Given the description of an element on the screen output the (x, y) to click on. 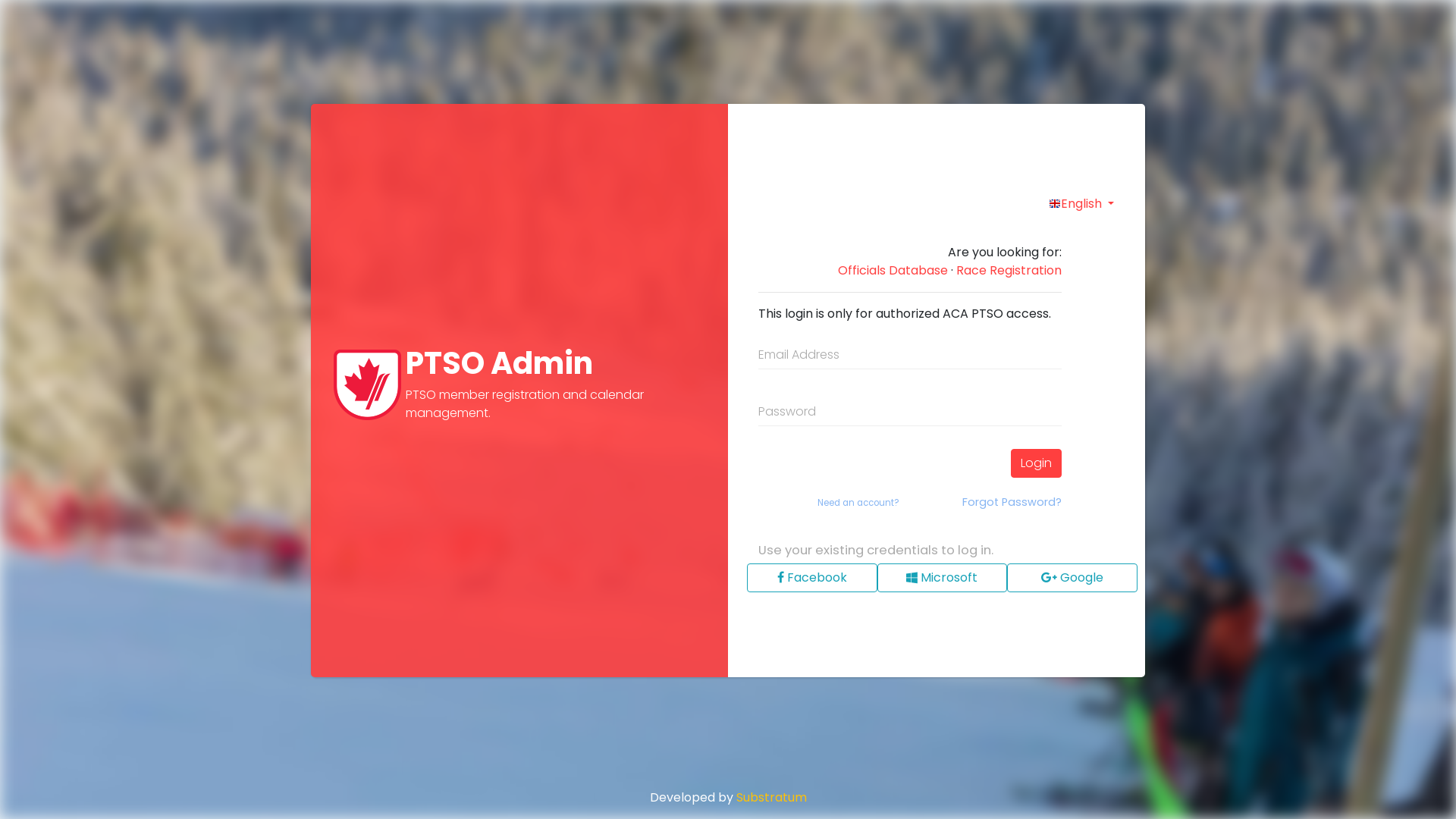
Microsoft Element type: text (942, 577)
Login Element type: text (1035, 462)
Facebook Element type: text (811, 577)
Officials Database Element type: text (892, 270)
Substratum Element type: text (770, 797)
Forgot Password? Element type: text (1011, 502)
Need an account? Element type: text (857, 502)
Google Element type: text (1072, 577)
Race Registration Element type: text (1008, 270)
English Element type: text (1081, 203)
